Given the description of an element on the screen output the (x, y) to click on. 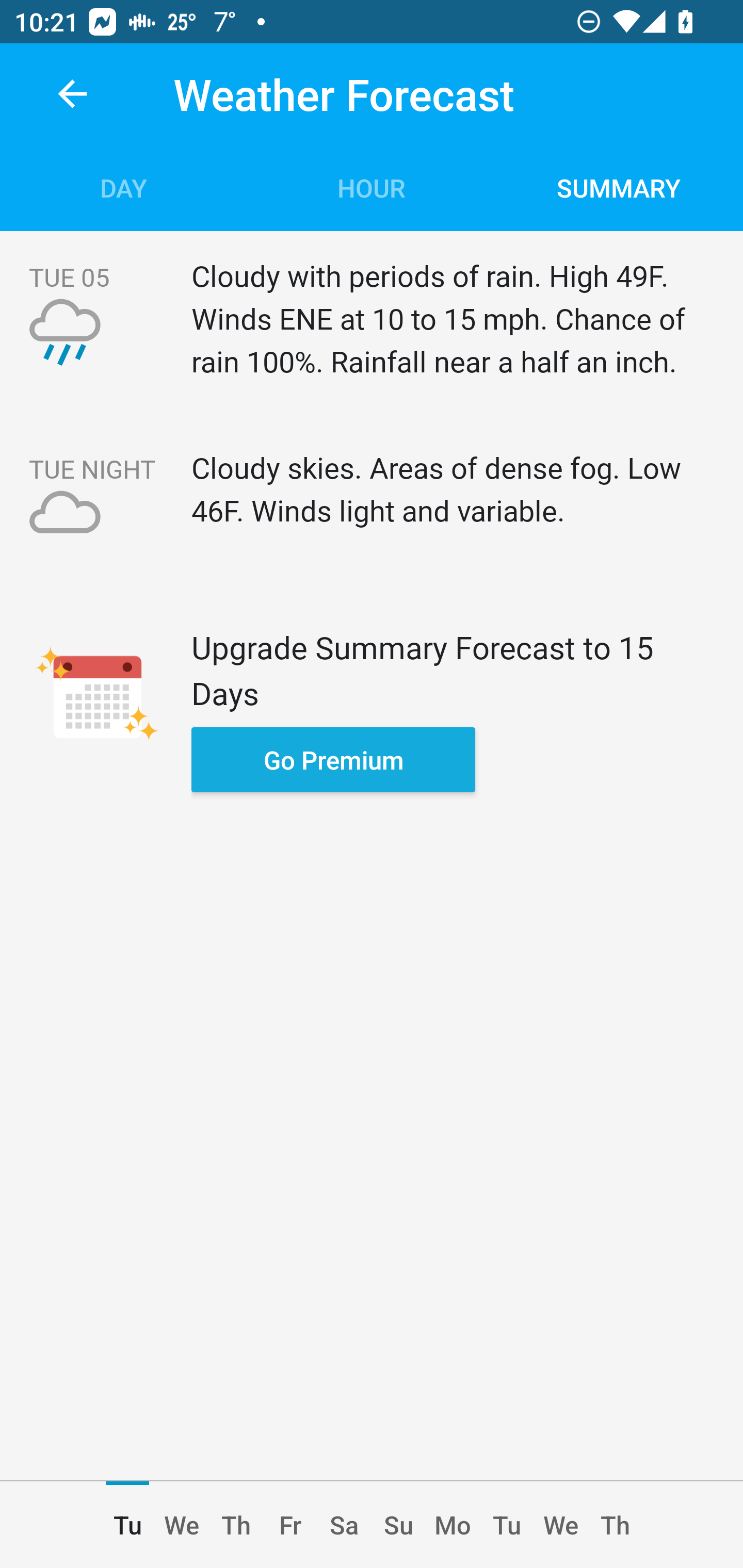
back (71, 93)
Day Tab DAY (123, 187)
Hour Tab HOUR (371, 187)
Go Premium (333, 759)
We (181, 1524)
Th (235, 1524)
Fr (290, 1524)
Sa (344, 1524)
Su (398, 1524)
Mo (452, 1524)
Tu (506, 1524)
We (561, 1524)
Th (615, 1524)
